Given the description of an element on the screen output the (x, y) to click on. 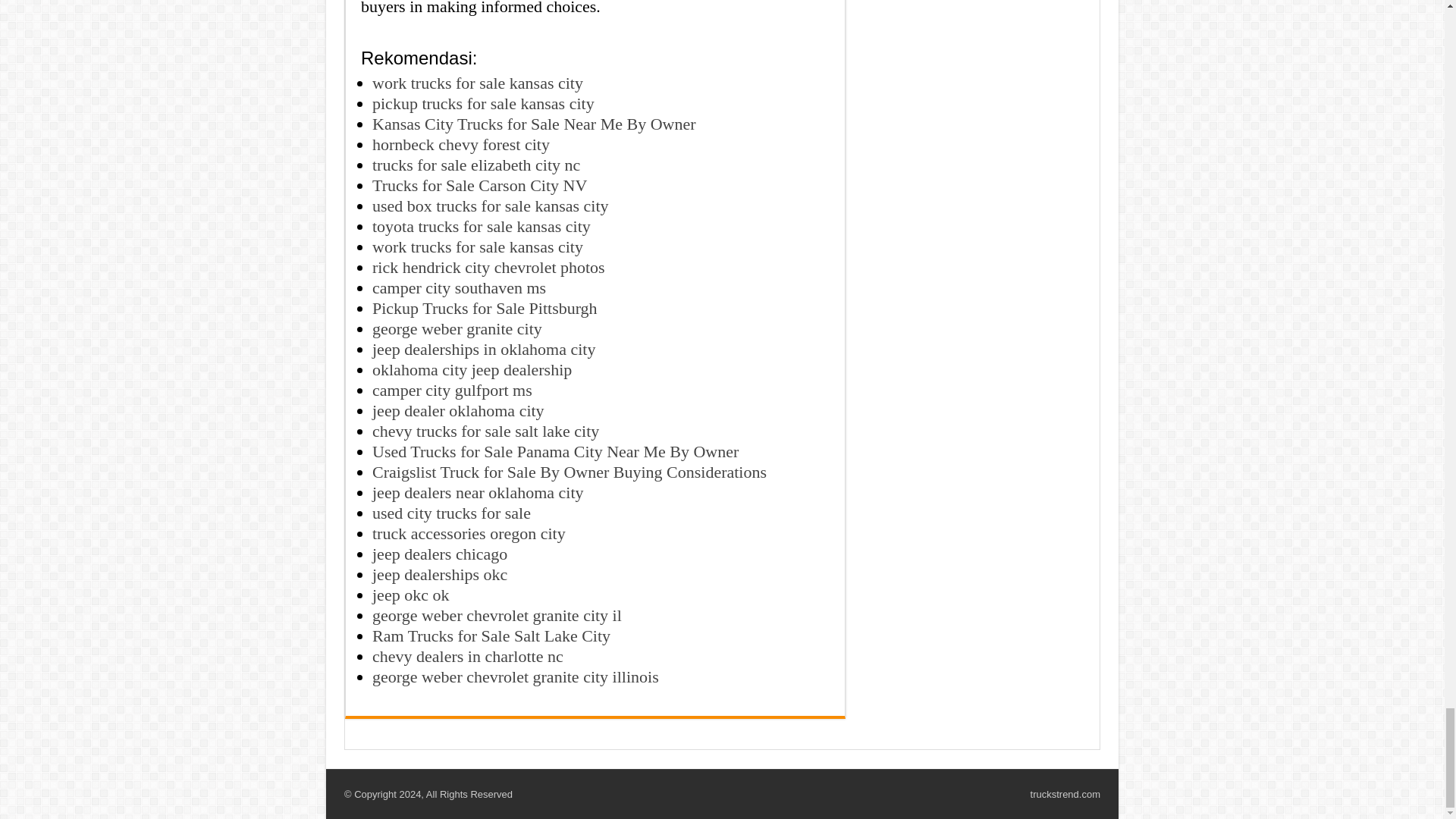
Kansas City Trucks for Sale Near Me By Owner (533, 123)
used box trucks for sale kansas city (490, 205)
trucks for sale elizabeth city nc (475, 164)
hornbeck chevy forest city (461, 144)
work trucks for sale kansas city (477, 82)
pickup trucks for sale kansas city (483, 103)
Trucks for Sale Carson City NV (479, 185)
